Given the description of an element on the screen output the (x, y) to click on. 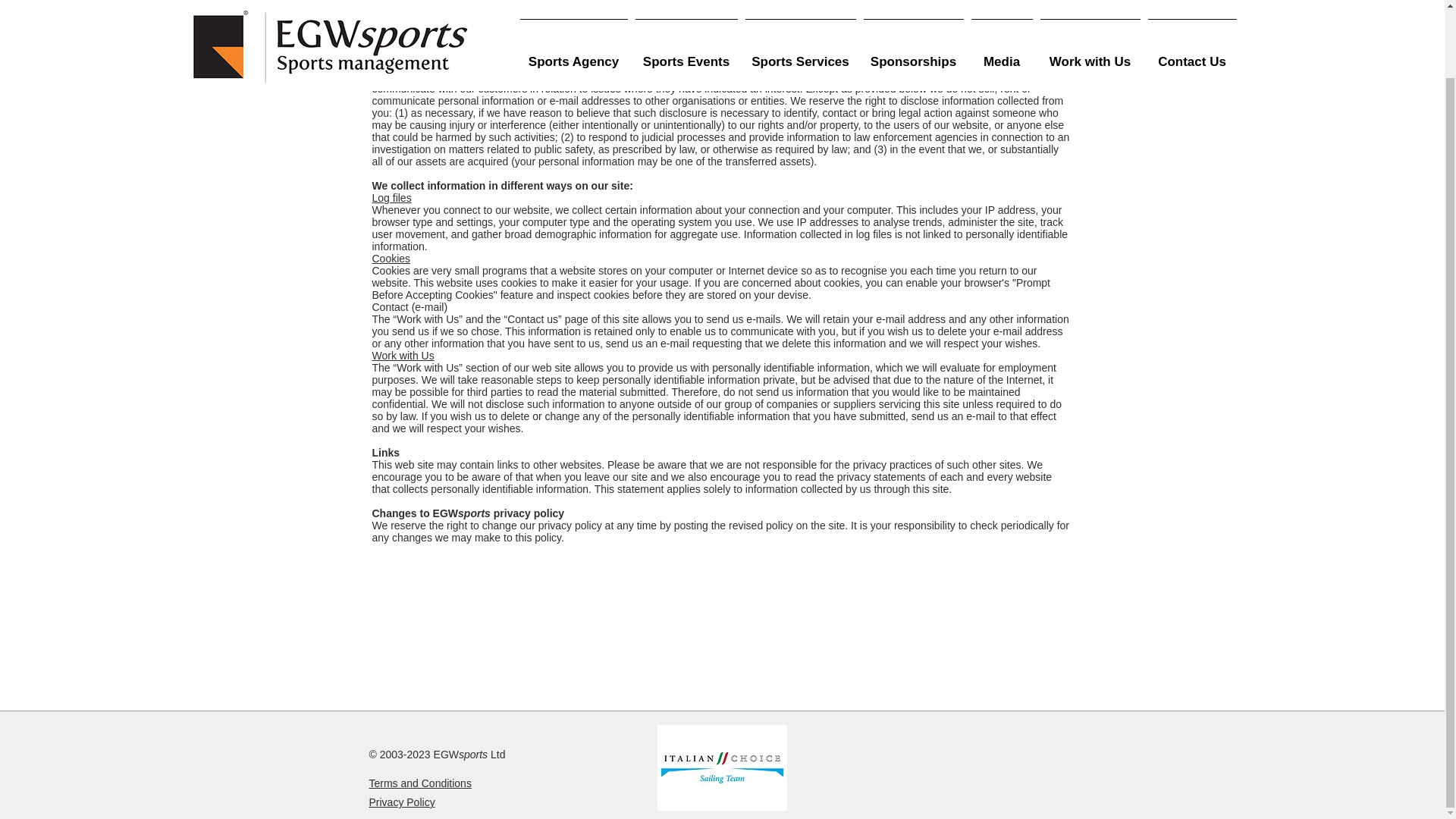
Work with Us (1088, 7)
Sports Agency (572, 7)
Terms and Conditions (419, 783)
Sponsorships (914, 7)
Contact Us (1191, 7)
Privacy Policy (400, 802)
Media (1002, 7)
Sports Services (800, 7)
Sports Events (685, 7)
